Given the description of an element on the screen output the (x, y) to click on. 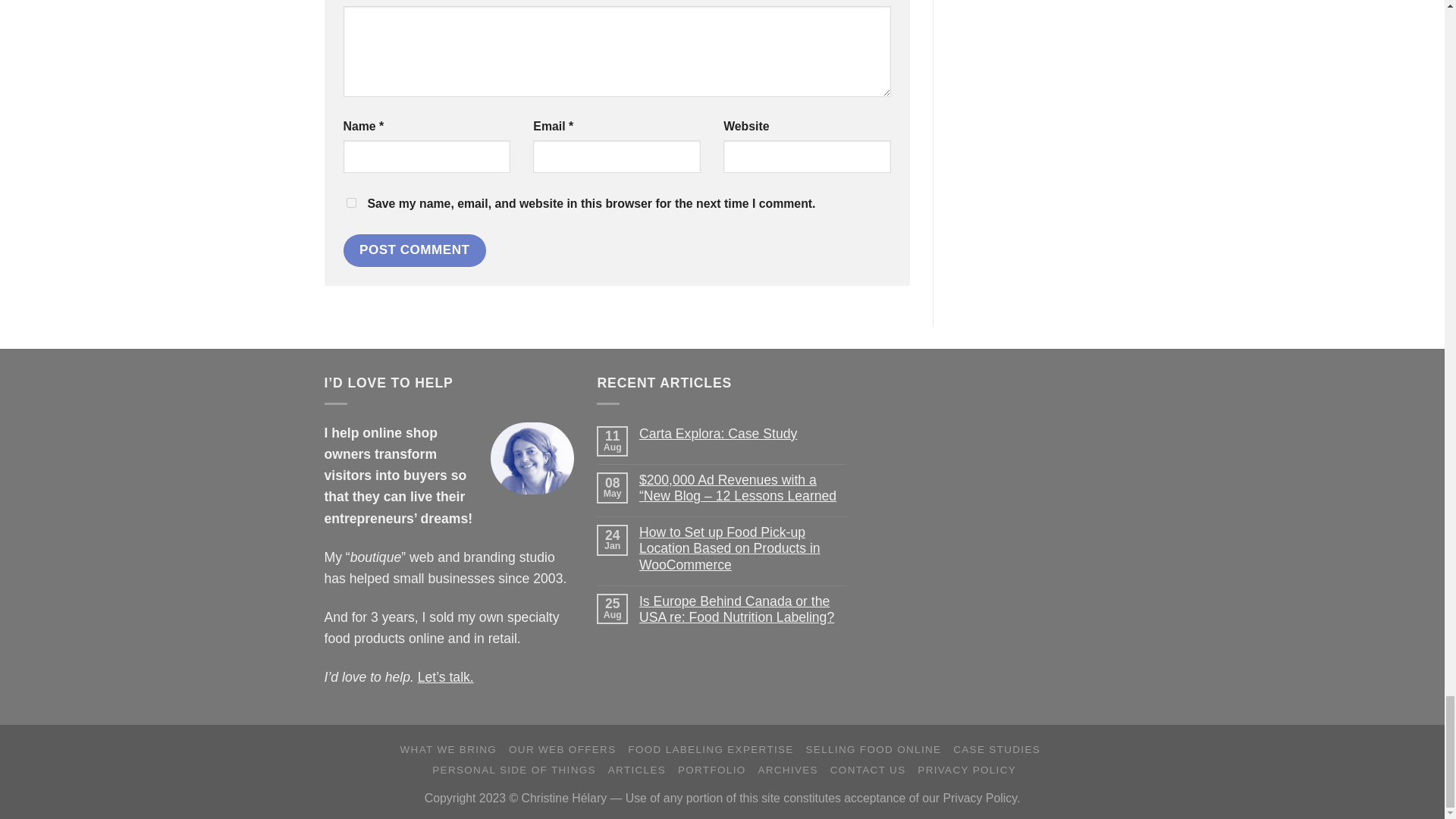
yes (350, 203)
Post Comment (413, 250)
